Given the description of an element on the screen output the (x, y) to click on. 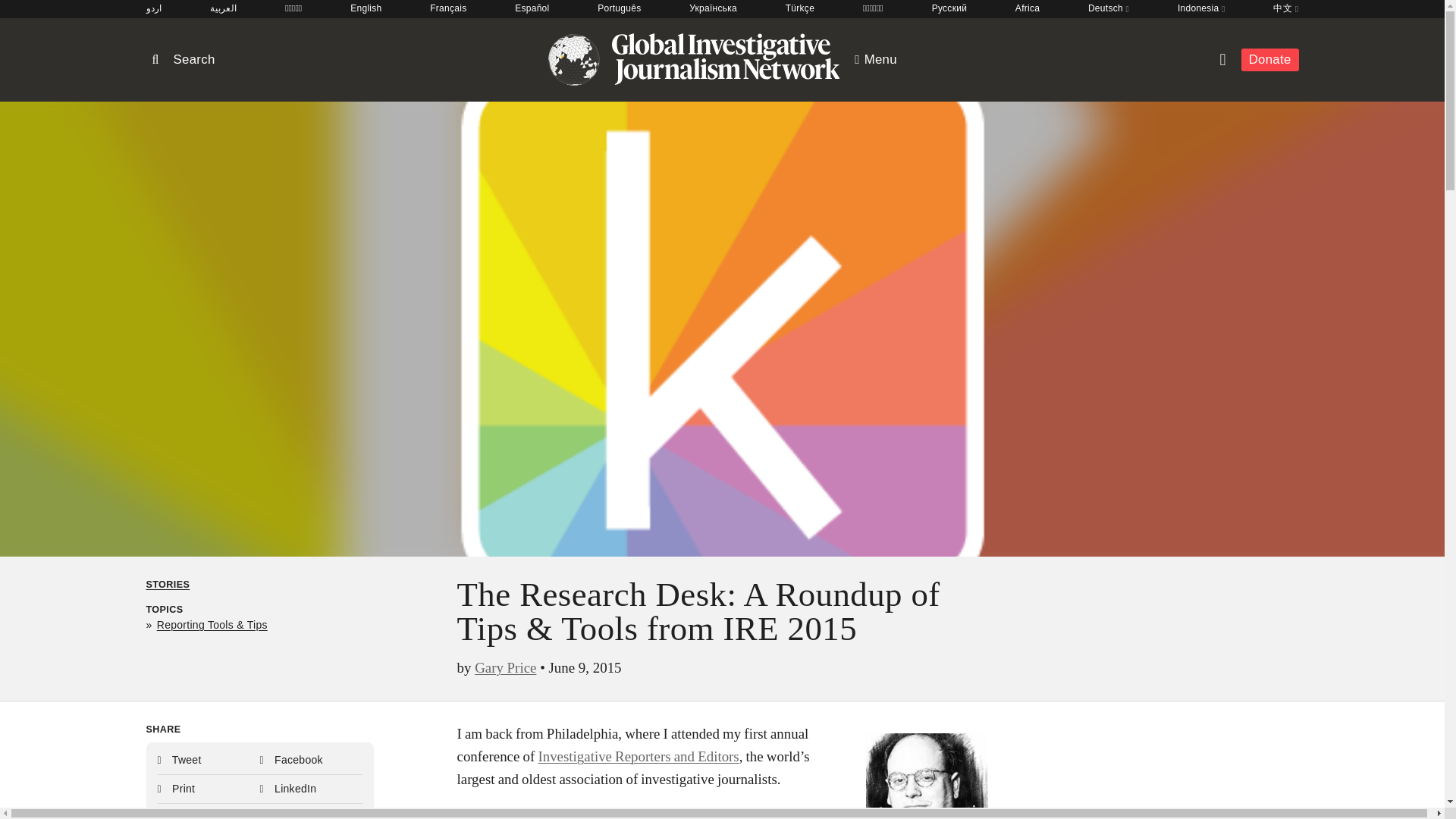
Donate (1269, 59)
Deutsch (1108, 9)
English (365, 9)
Menu (875, 58)
Africa (1026, 9)
Indonesia (1201, 9)
